Given the description of an element on the screen output the (x, y) to click on. 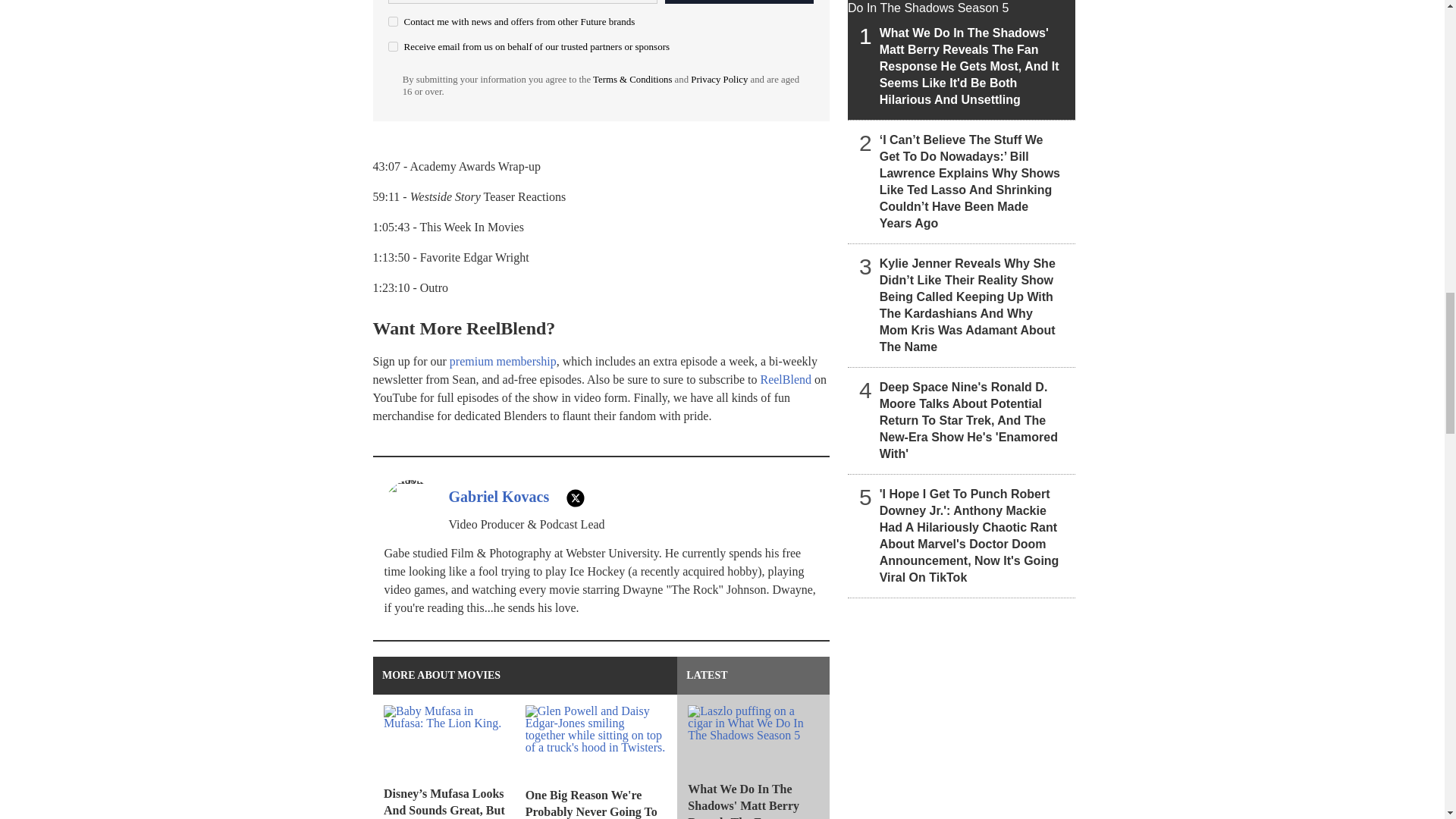
Sign me up (739, 2)
on (392, 46)
on (392, 21)
